Given the description of an element on the screen output the (x, y) to click on. 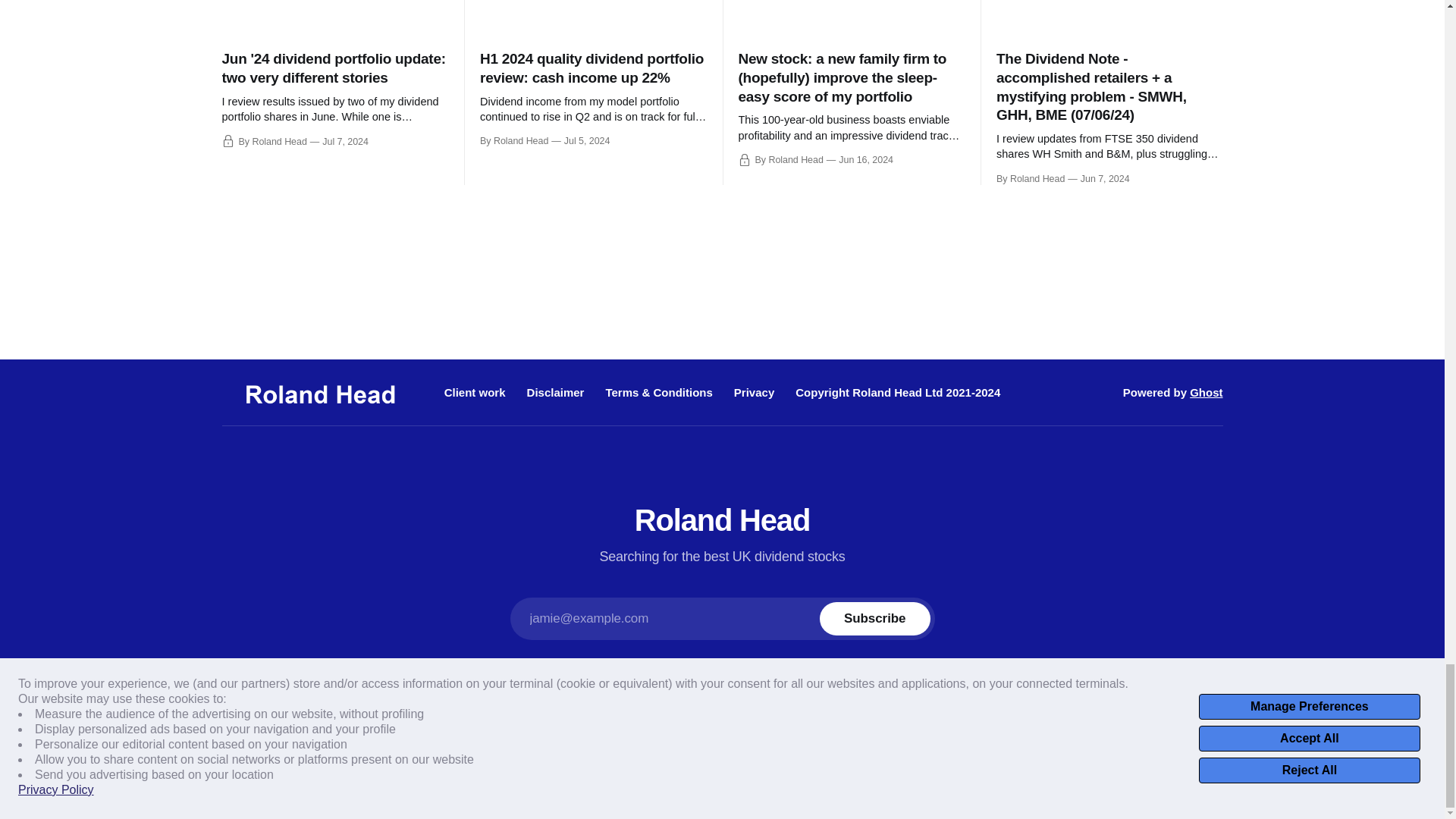
Client work (474, 391)
Disclaimer (556, 391)
